Given the description of an element on the screen output the (x, y) to click on. 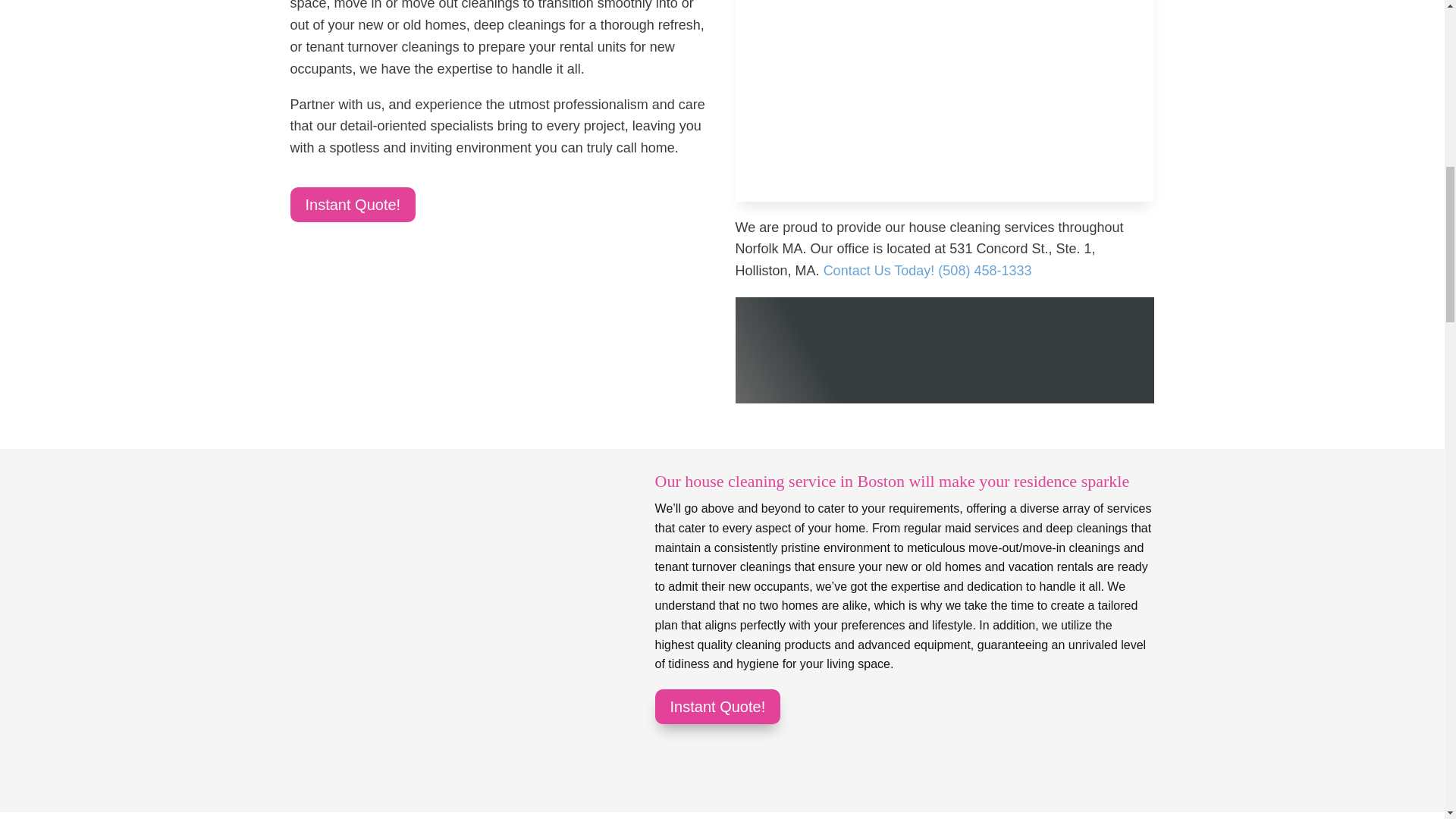
Instant Quote! (717, 706)
Instant Quote! (351, 204)
